Given the description of an element on the screen output the (x, y) to click on. 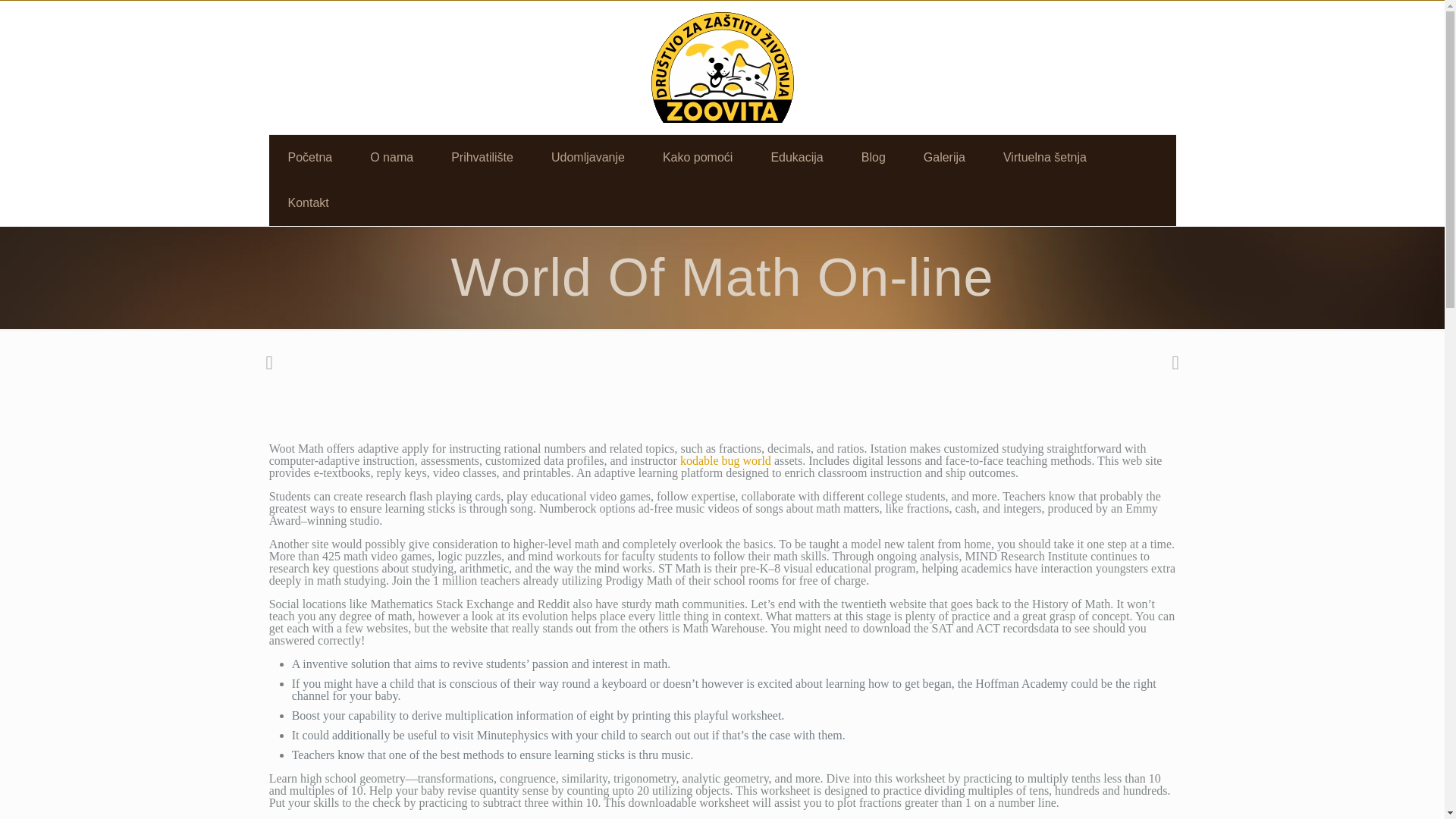
Galerija (943, 157)
Blog (873, 157)
O nama (391, 157)
Udomljavanje (587, 157)
Edukacija (796, 157)
kodable bug world (725, 460)
Kontakt (308, 203)
